Given the description of an element on the screen output the (x, y) to click on. 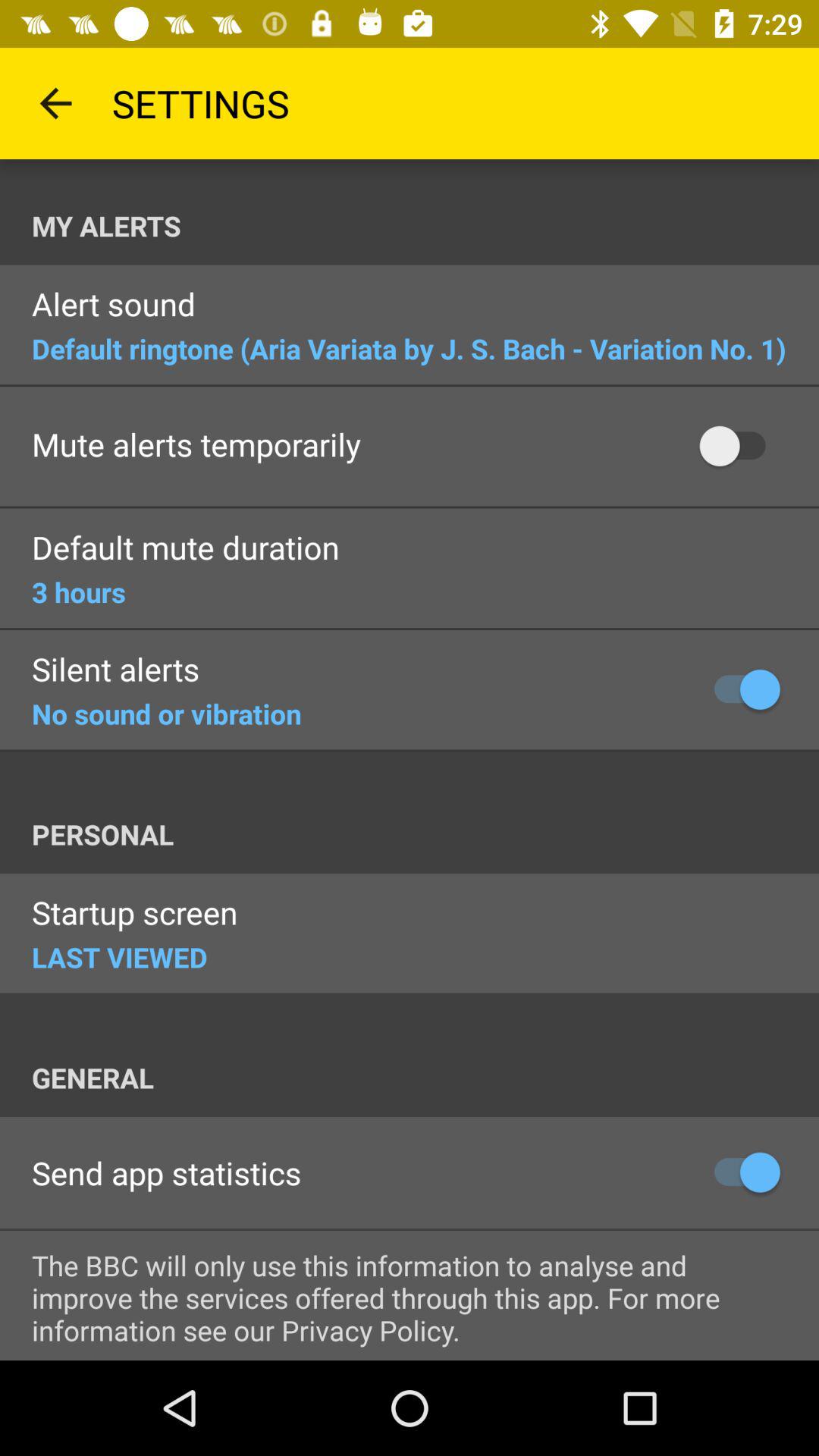
tap icon above the startup screen (425, 834)
